Given the description of an element on the screen output the (x, y) to click on. 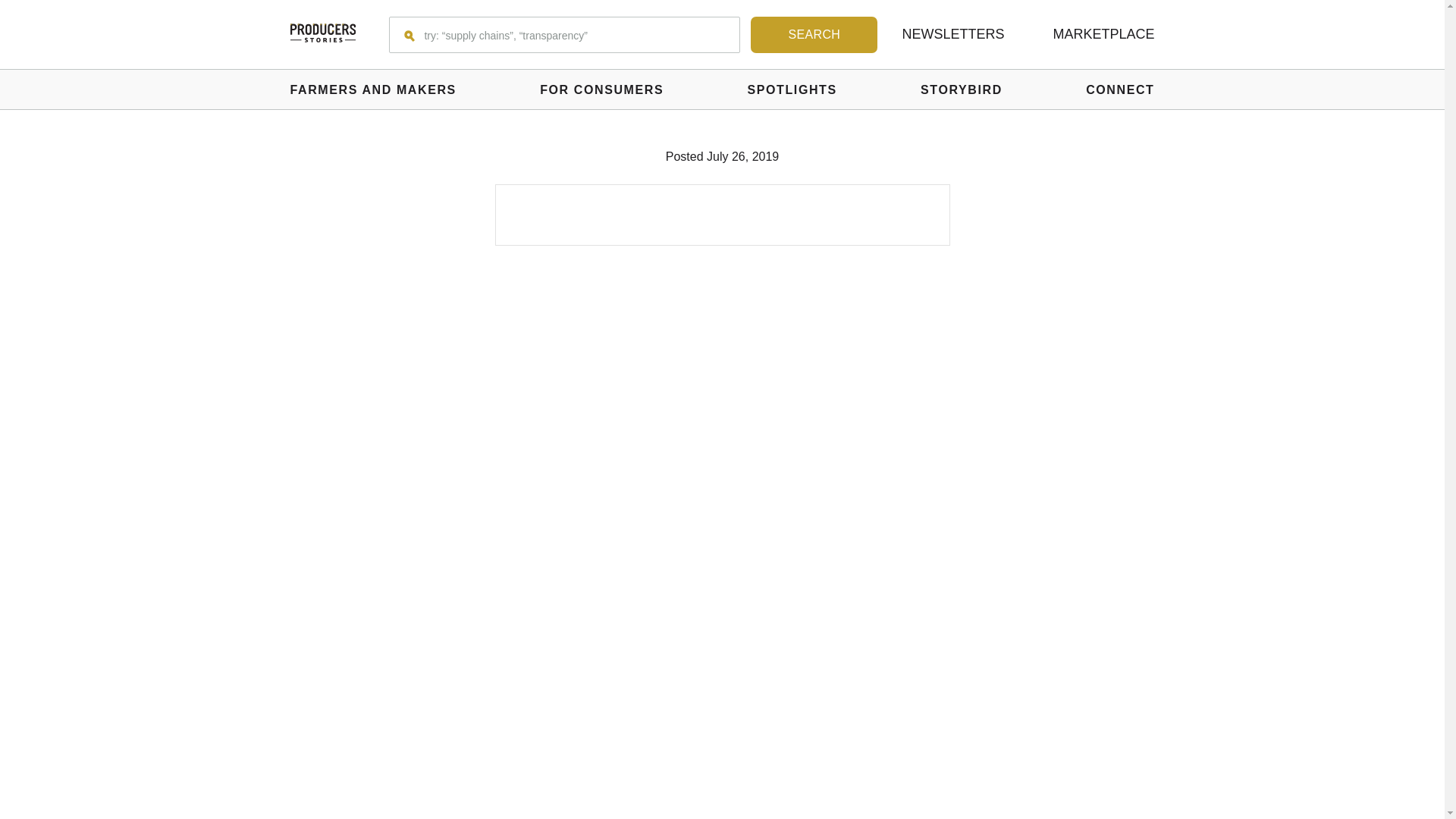
Home (322, 34)
SPOTLIGHTS (792, 89)
CONNECT (1120, 89)
NEWSLETTERS (952, 32)
SEARCH (814, 34)
STORYBIRD (961, 89)
FOR CONSUMERS (601, 89)
MARKETPLACE (1103, 32)
FARMERS AND MAKERS (372, 89)
